Given the description of an element on the screen output the (x, y) to click on. 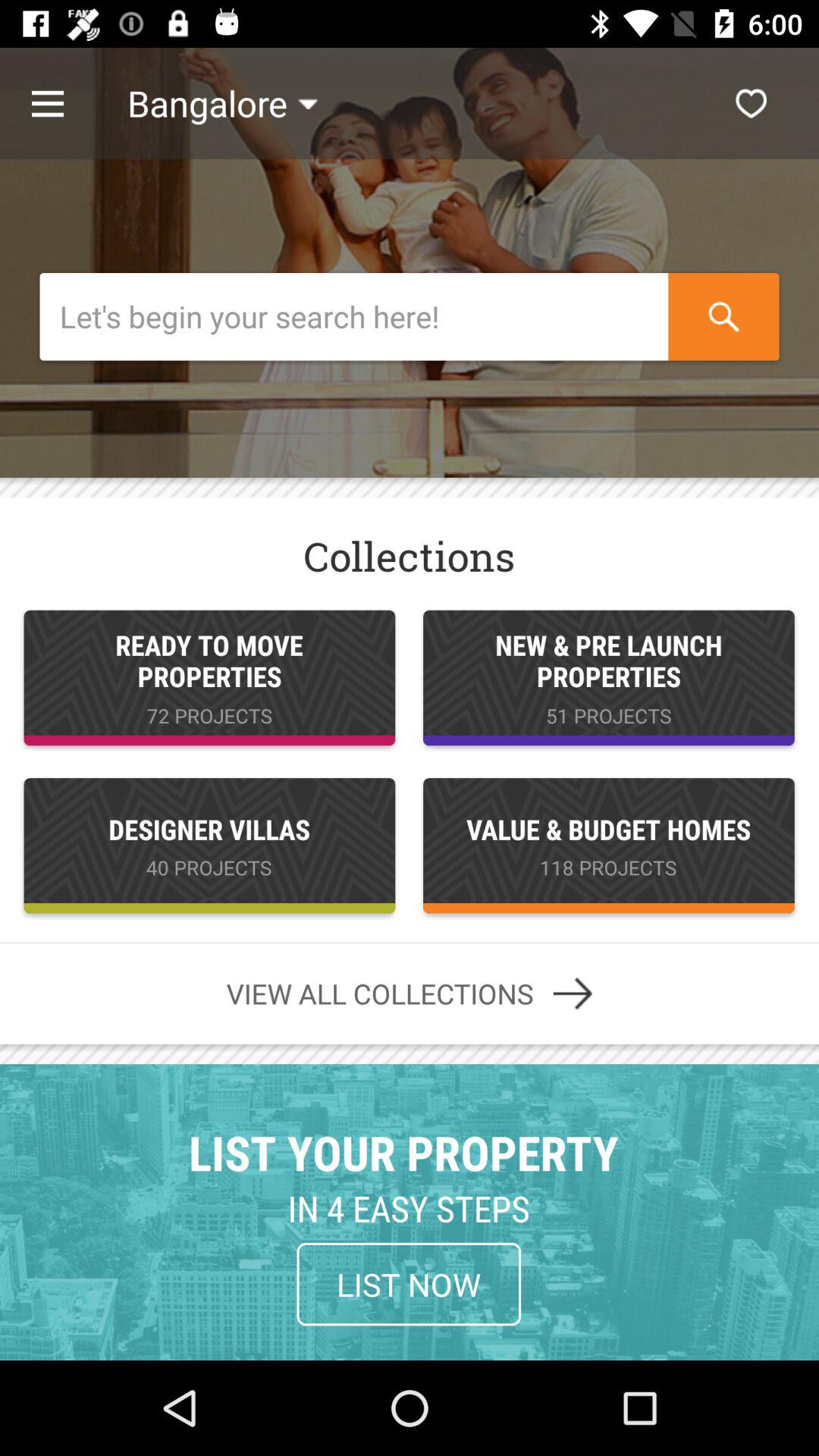
swipe to bangalore item (222, 103)
